Given the description of an element on the screen output the (x, y) to click on. 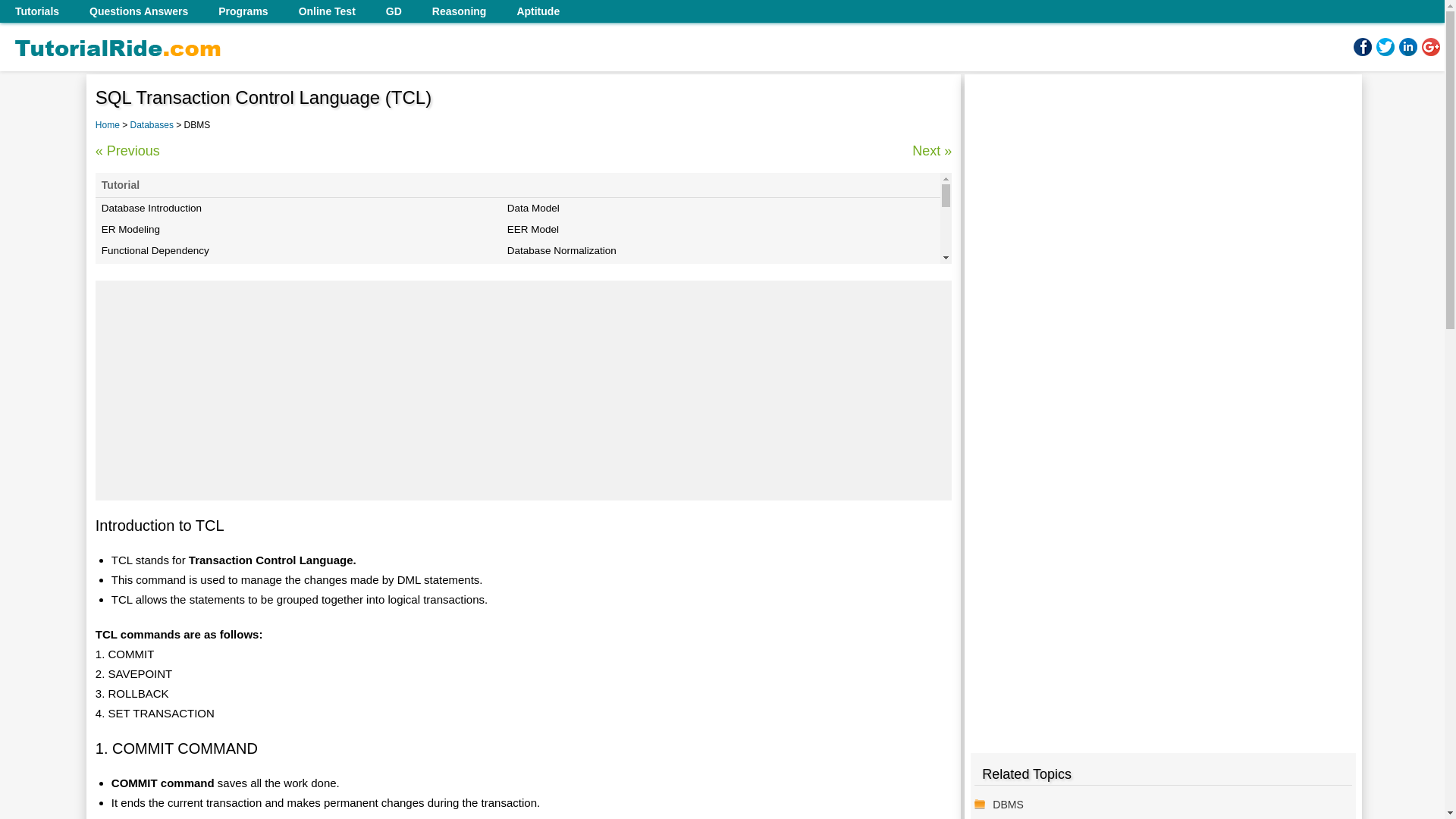
SQL Trigger (703, 356)
Database Introduction (298, 208)
SQL Stored Procedure (298, 356)
Programs (242, 11)
EER Model (703, 229)
SQL Stored Procedure (298, 356)
Database Normalization (703, 250)
Tutorials (37, 11)
Functional Dependency (298, 250)
Database Transaction Control (703, 399)
